Given the description of an element on the screen output the (x, y) to click on. 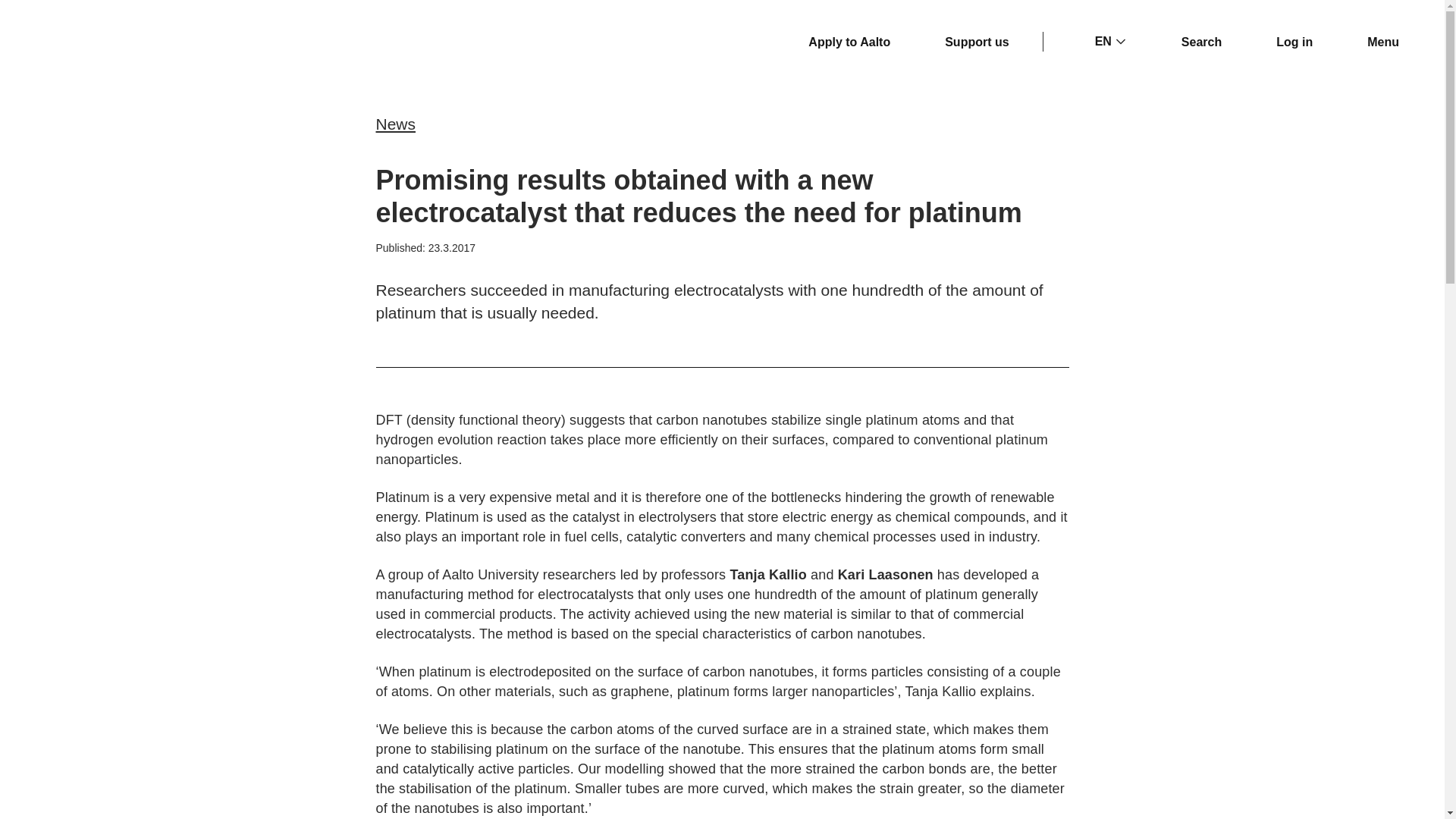
Apply to Aalto (840, 41)
Support us (967, 41)
Search (1192, 41)
Home (98, 43)
Log in (1285, 41)
Menu (1373, 41)
